Given the description of an element on the screen output the (x, y) to click on. 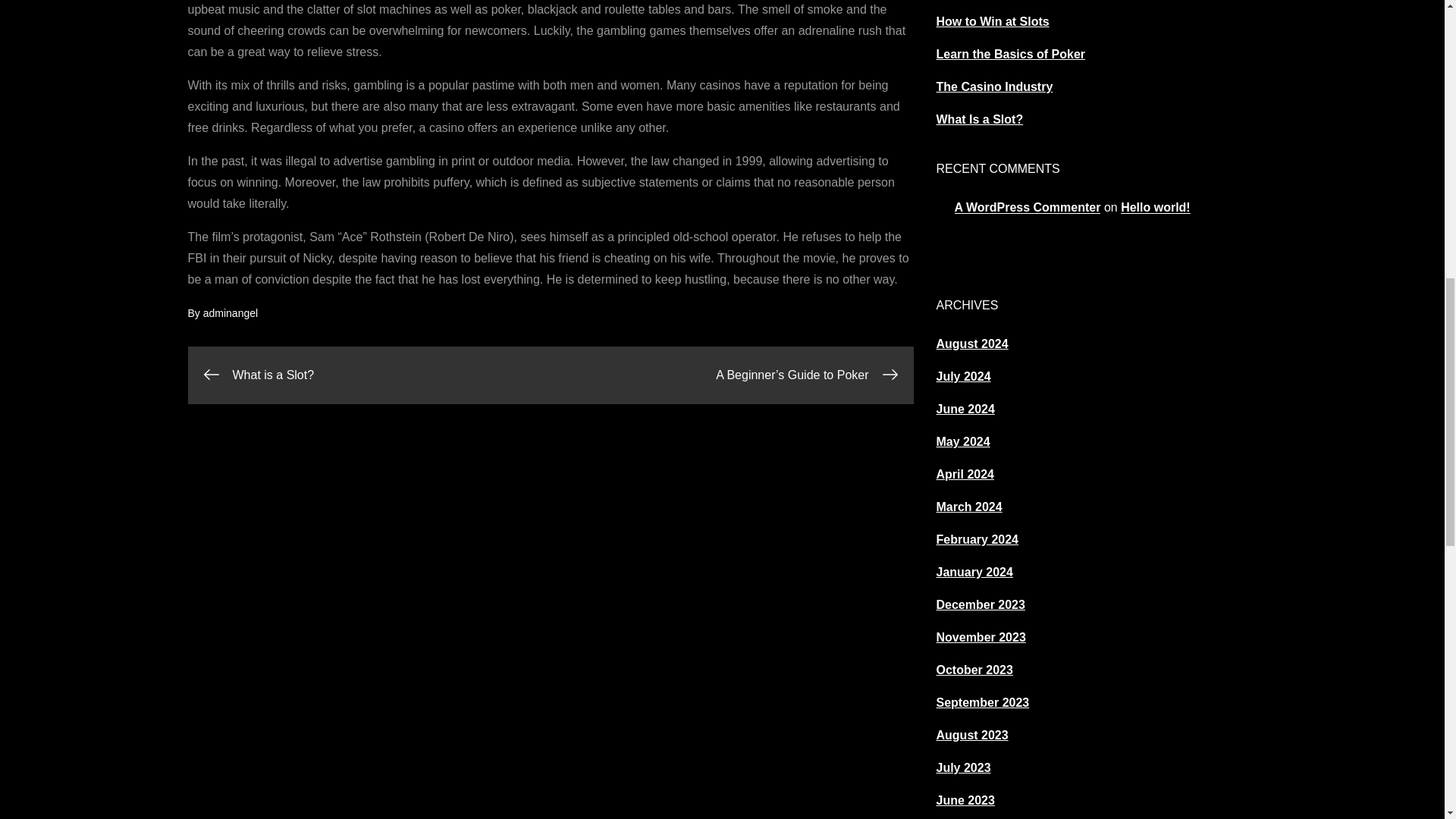
A WordPress Commenter (1026, 206)
August 2023 (971, 735)
June 2023 (965, 799)
March 2024 (968, 506)
February 2024 (976, 539)
June 2024 (965, 408)
October 2023 (973, 669)
November 2023 (980, 636)
September 2023 (982, 702)
How to Win at Slots (992, 21)
